Given the description of an element on the screen output the (x, y) to click on. 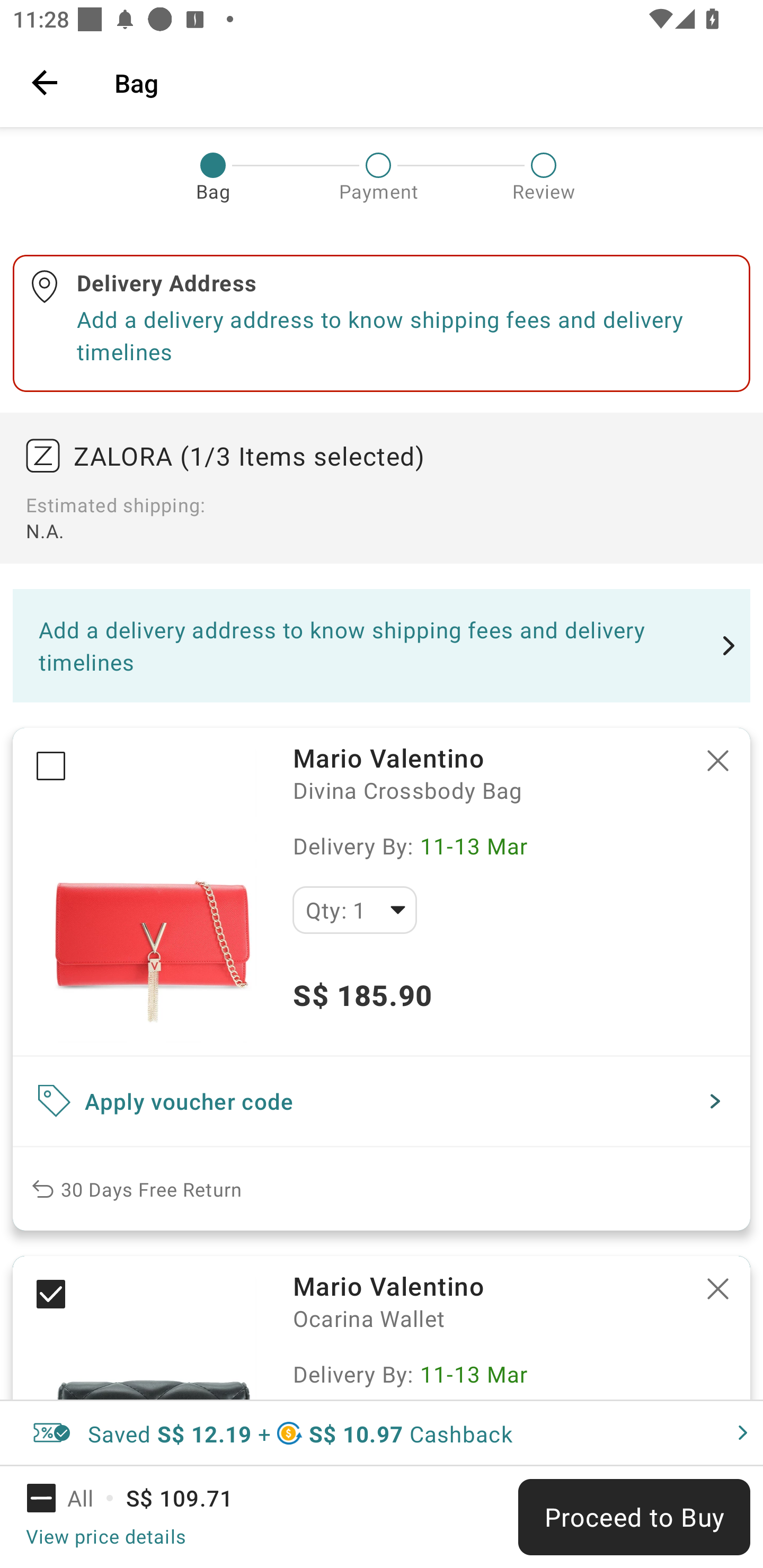
Navigate up (44, 82)
Bag (426, 82)
Qty: 1 (354, 909)
Apply voucher code (381, 1101)
Saved S$ 12.19 +   S$ 10.97 Cashback (381, 1432)
All (72, 1497)
Proceed to Buy (634, 1516)
View price details (105, 1535)
